Given the description of an element on the screen output the (x, y) to click on. 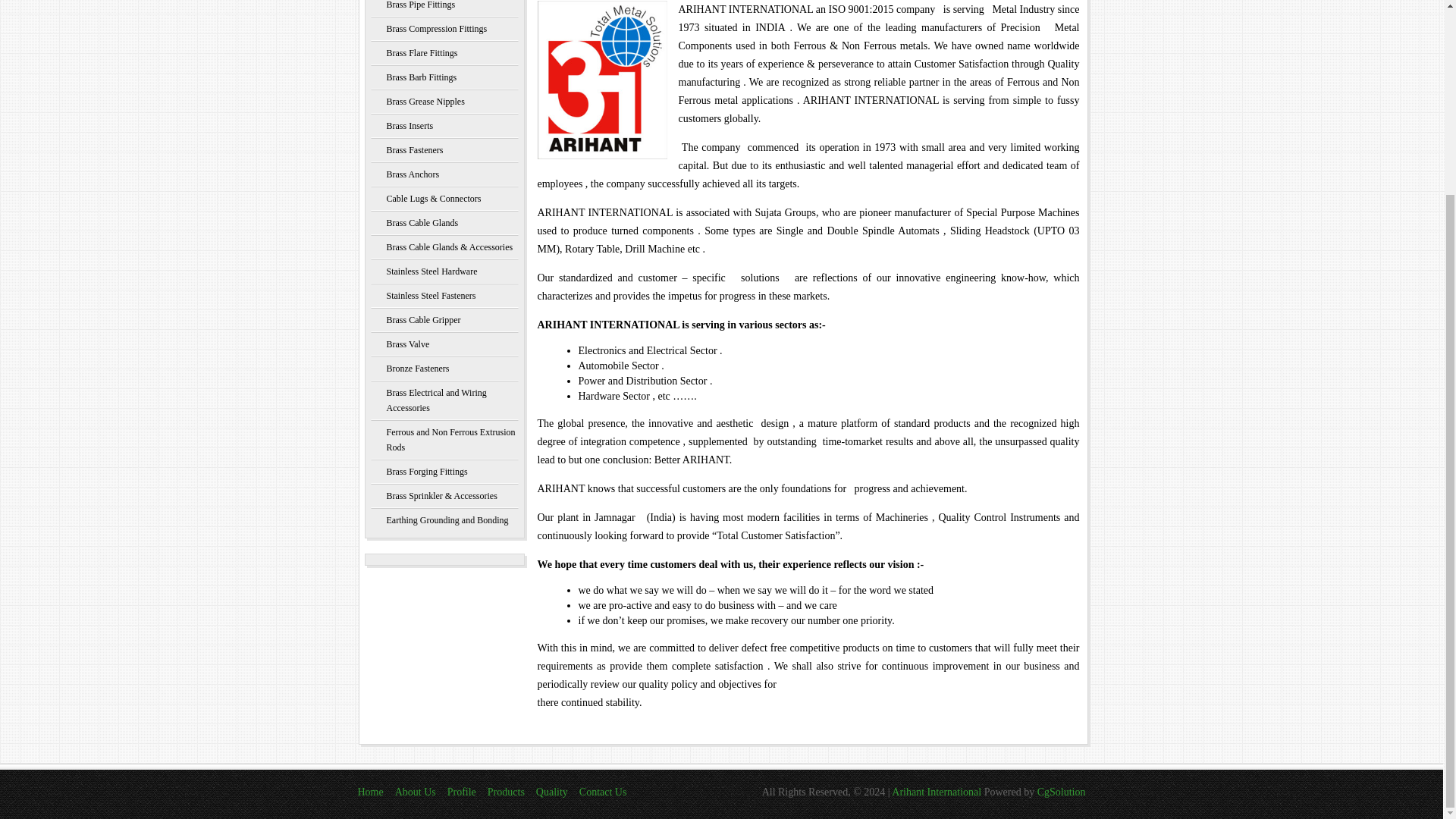
Brass Valve (443, 344)
Brass Inserts (443, 125)
Brass Cable Glands (443, 222)
Quality (551, 792)
Home (369, 792)
Bronze Fasteners (443, 368)
Brass Electrical and Wiring Accessories (443, 400)
CgSolution (1061, 791)
Brass Pipe Fittings (443, 8)
Stainless Steel Fasteners (443, 295)
CG Solution (1061, 791)
About Us (414, 792)
Ferrous and Non Ferrous Extrusion Rods (443, 439)
Profile (461, 792)
Arihant International (937, 791)
